Given the description of an element on the screen output the (x, y) to click on. 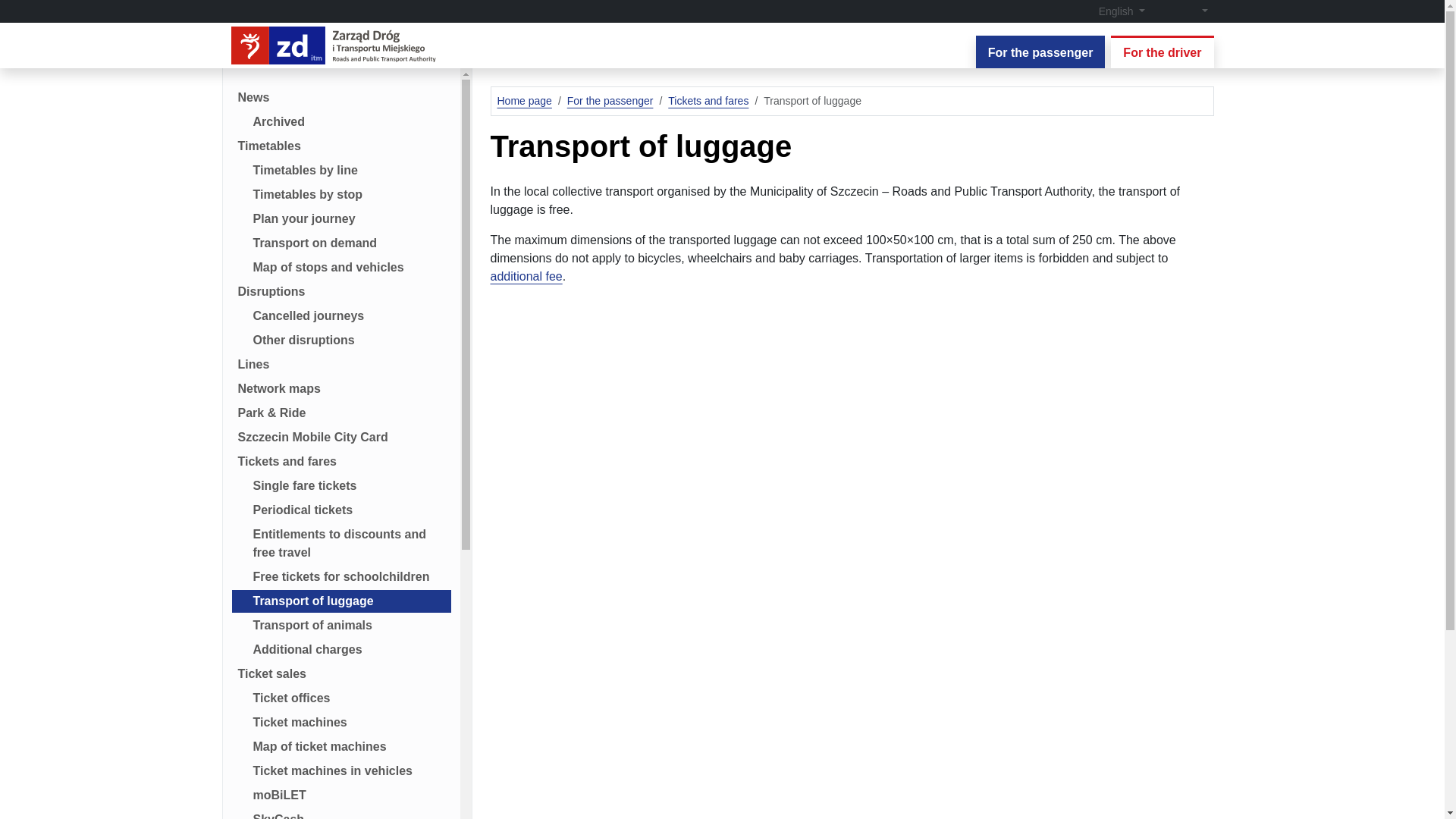
For the driver (1161, 51)
toggle the mode (1195, 11)
English (1113, 11)
notifications (1163, 11)
For the passenger (1040, 51)
